Given the description of an element on the screen output the (x, y) to click on. 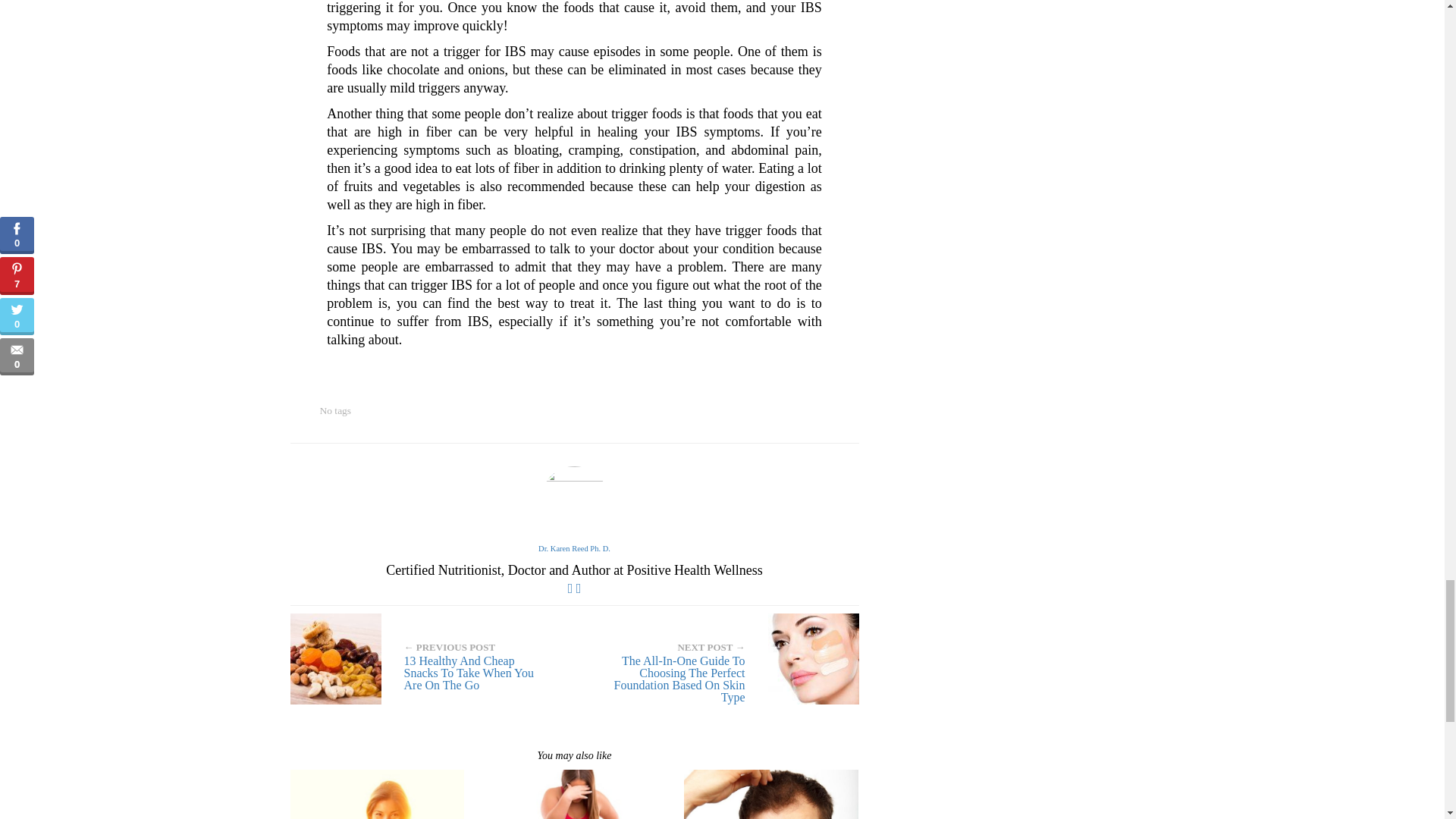
Dr. Karen Reed Ph. D. (574, 548)
13 Healthy And Cheap Snacks To Take When You Are On The Go (425, 658)
Posts by Dr. Karen Reed Ph. D. (574, 548)
